Given the description of an element on the screen output the (x, y) to click on. 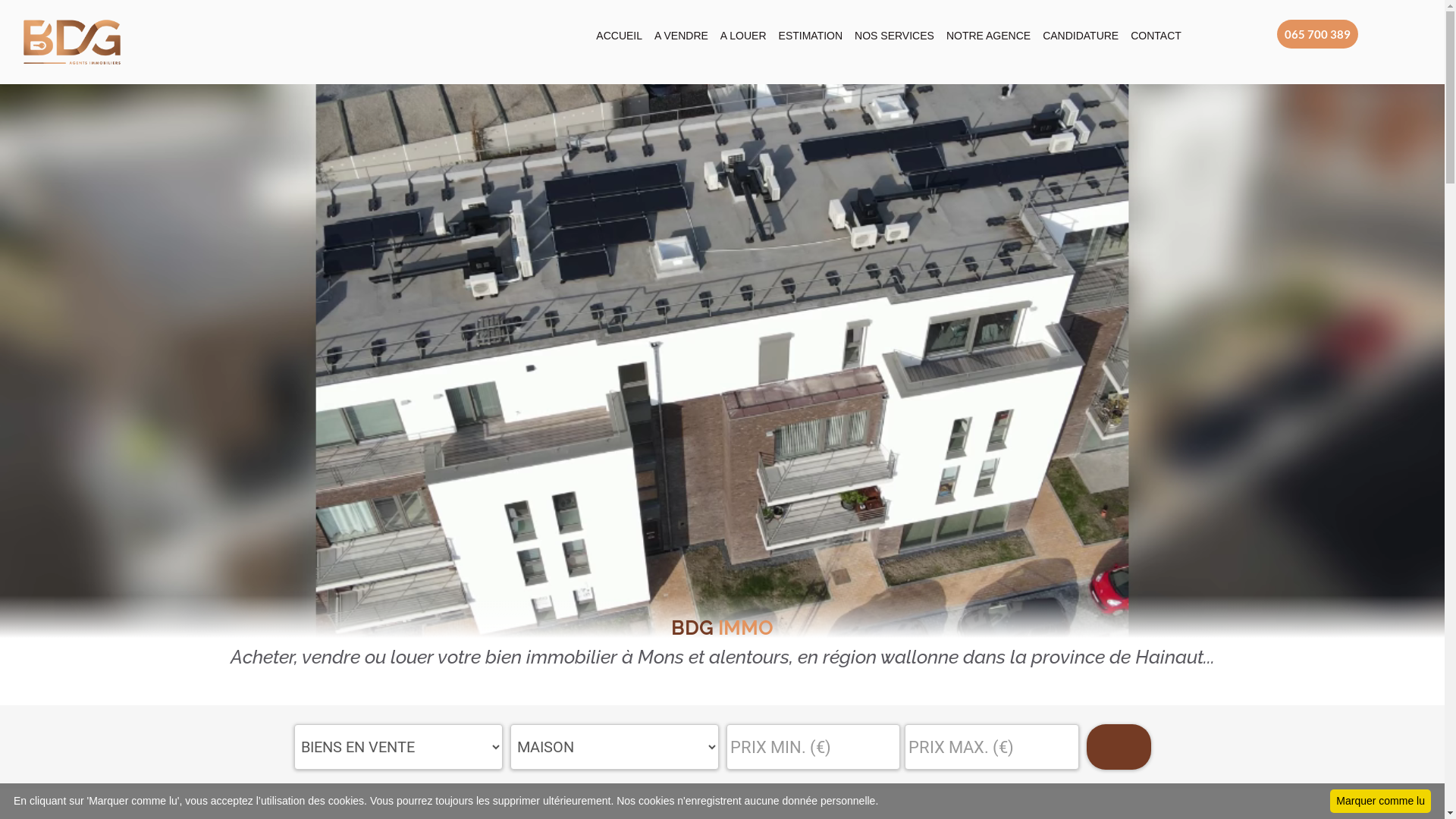
065 700 389 Element type: text (1317, 34)
A LOUER Element type: text (743, 31)
NOS SERVICES Element type: text (894, 31)
CONTACT Element type: text (1155, 31)
ACCUEIL Element type: text (618, 31)
A VENDRE Element type: text (681, 31)
CANDIDATURE Element type: text (1080, 31)
Rechercher Element type: text (1117, 746)
NOTRE AGENCE Element type: text (988, 31)
ESTIMATION Element type: text (810, 31)
